Given the description of an element on the screen output the (x, y) to click on. 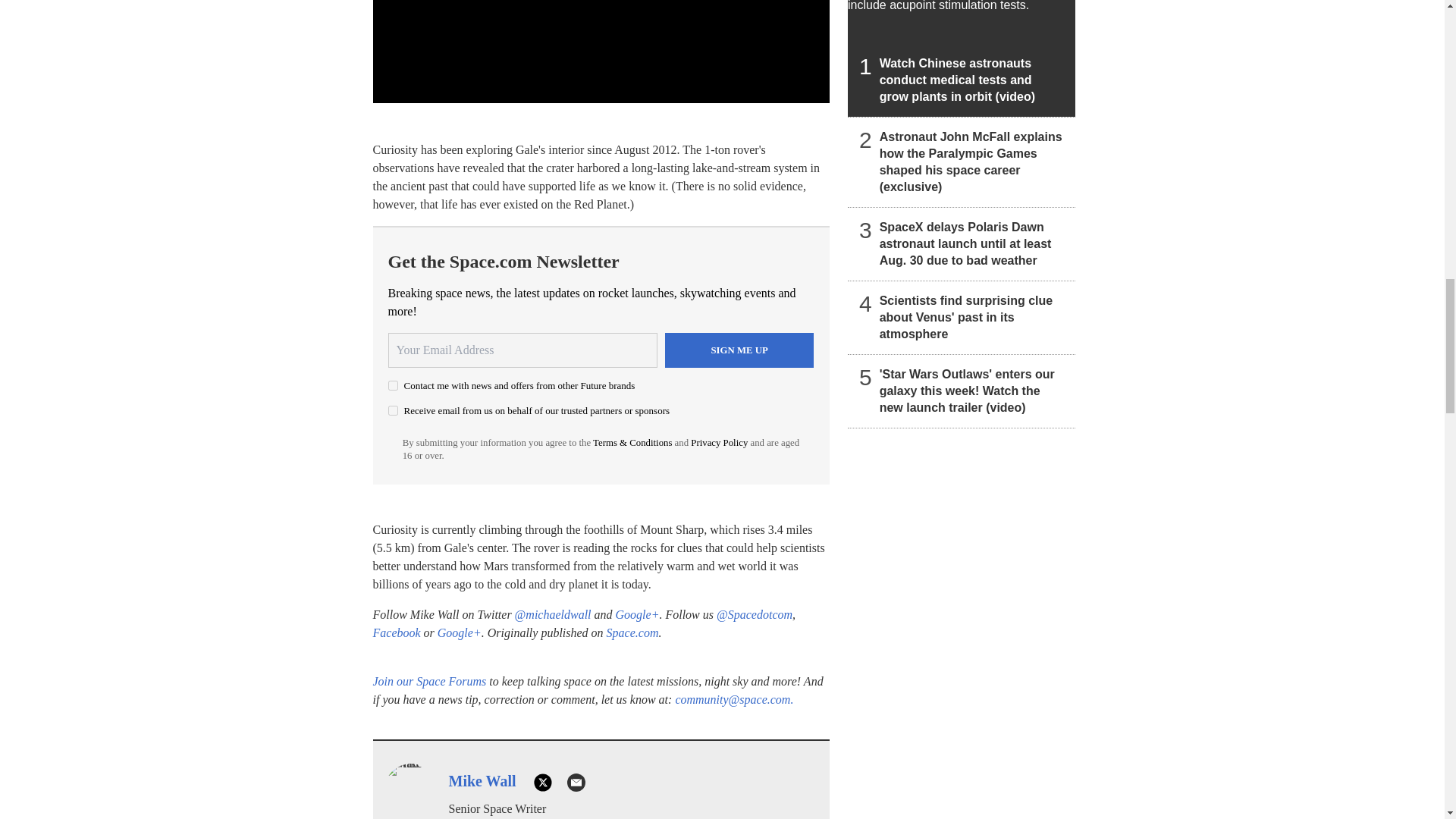
on (392, 410)
Sign me up (739, 349)
on (392, 385)
